Given the description of an element on the screen output the (x, y) to click on. 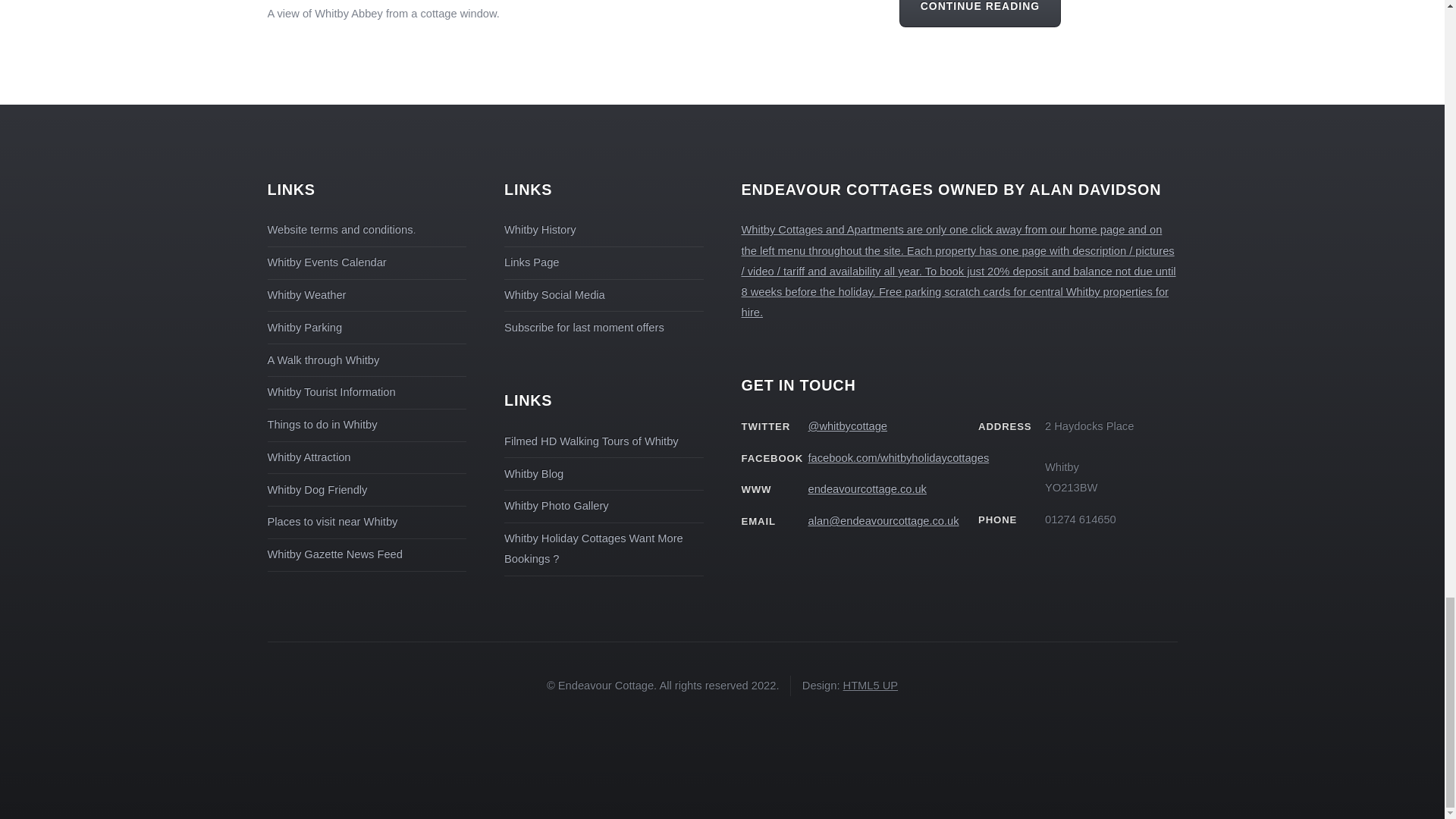
A Walk through Whitby (322, 359)
Whitby Gazette News Feed (333, 553)
Whitby Tourist Information (330, 391)
Whitby Weather (306, 295)
Whitby Parking (304, 327)
Website terms and conditions (339, 229)
Places to visit near Whitby (331, 521)
Whitby Attraction (308, 457)
Whitby Dog Friendly (316, 490)
Things to do in Whitby (321, 424)
Whitby Events Calendar (325, 262)
CONTINUE READING (980, 13)
